Given the description of an element on the screen output the (x, y) to click on. 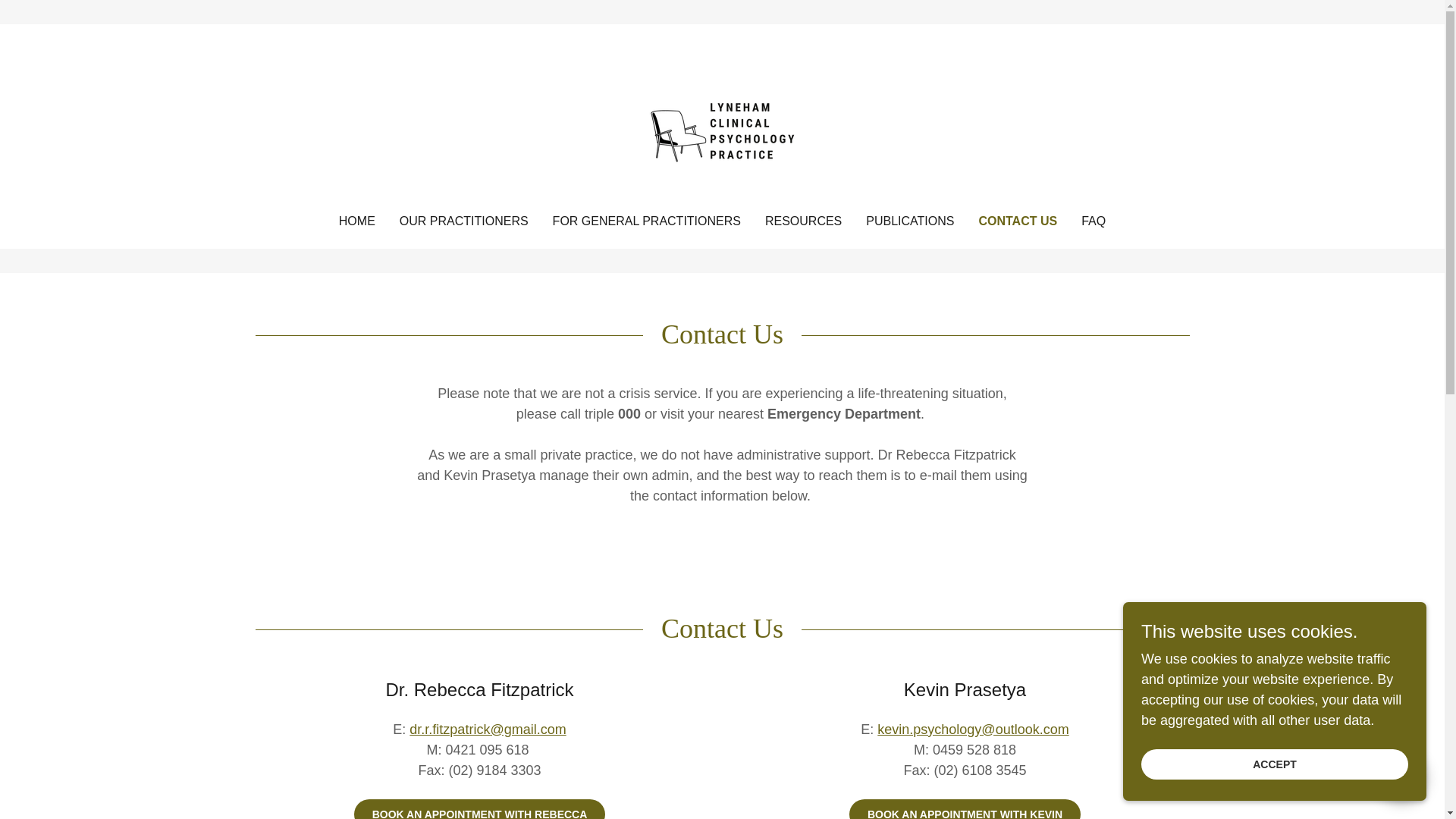
BOOK AN APPOINTMENT WITH REBECCA (479, 809)
Lyneham Clinical Psychology Practice (721, 117)
RESOURCES (802, 221)
ACCEPT (1274, 764)
BOOK AN APPOINTMENT WITH KEVIN (964, 809)
HOME (357, 221)
OUR PRACTITIONERS (463, 221)
CONTACT US (1017, 221)
PUBLICATIONS (909, 221)
FAQ (1093, 221)
